Given the description of an element on the screen output the (x, y) to click on. 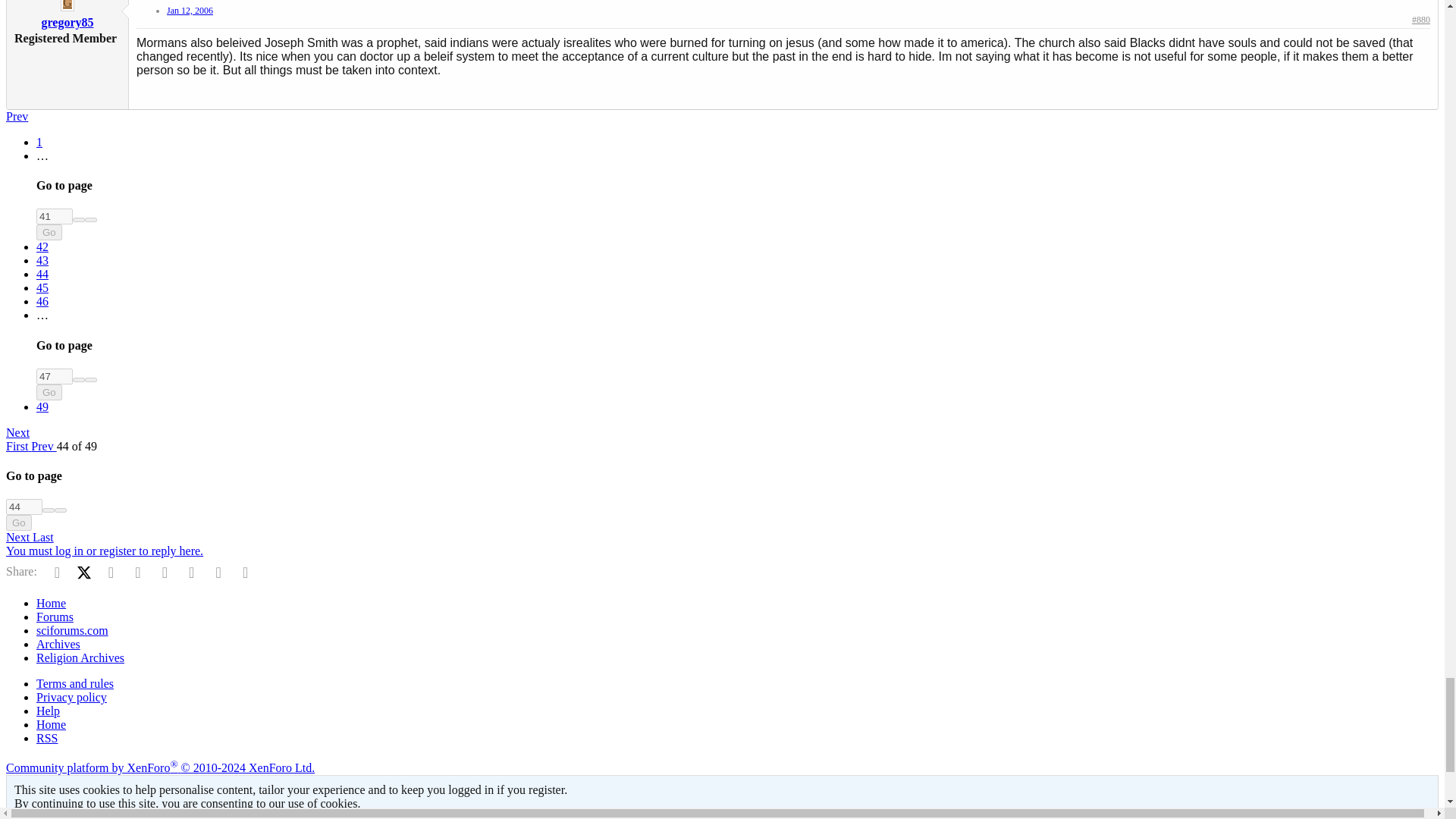
41 (54, 216)
44 (23, 506)
47 (54, 376)
